Given the description of an element on the screen output the (x, y) to click on. 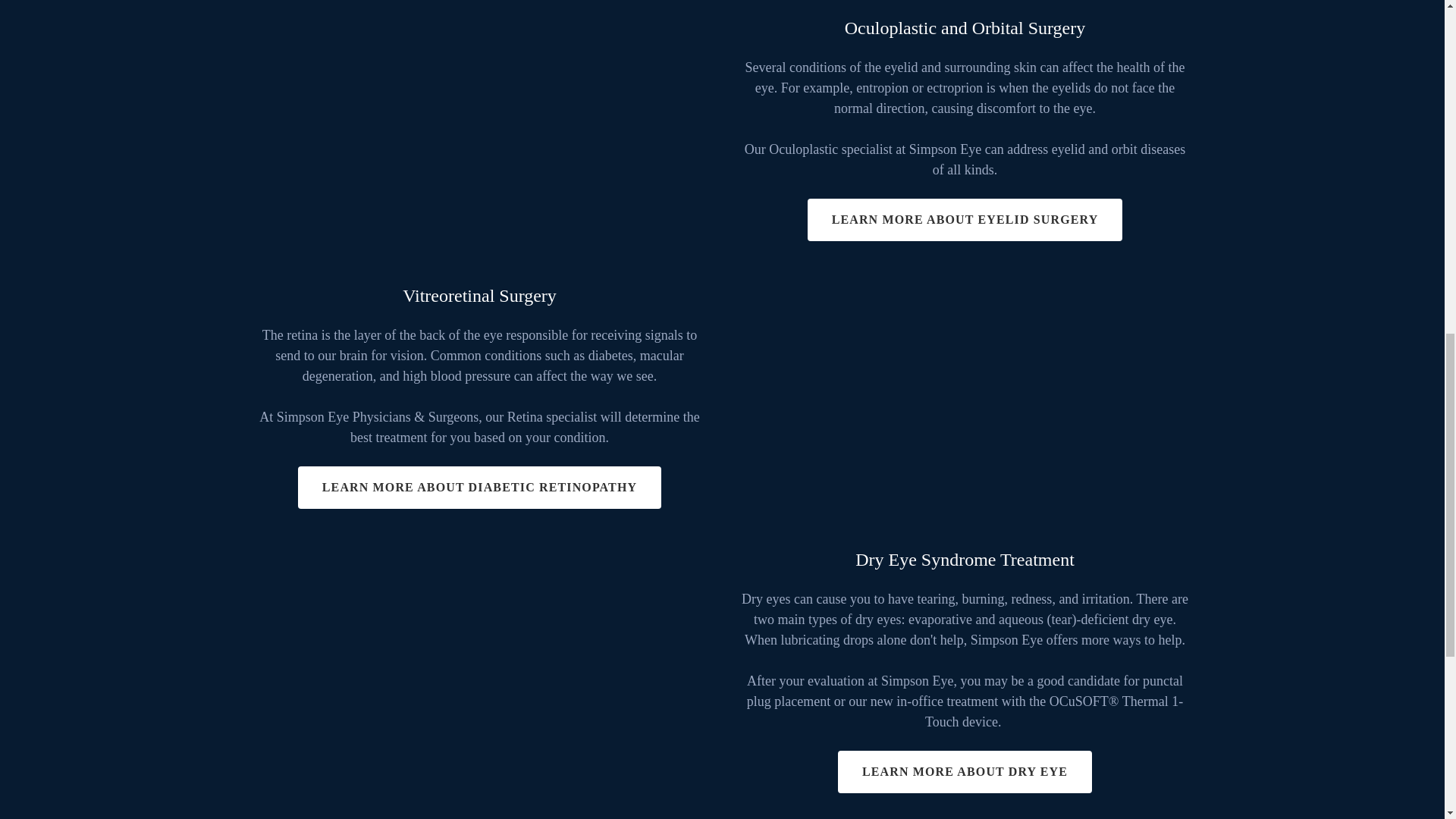
LEARN MORE ABOUT DRY EYE (965, 772)
ACCEPT (1274, 324)
LEARN MORE ABOUT EYELID SURGERY (965, 219)
LEARN MORE ABOUT DIABETIC RETINOPATHY (479, 487)
